Given the description of an element on the screen output the (x, y) to click on. 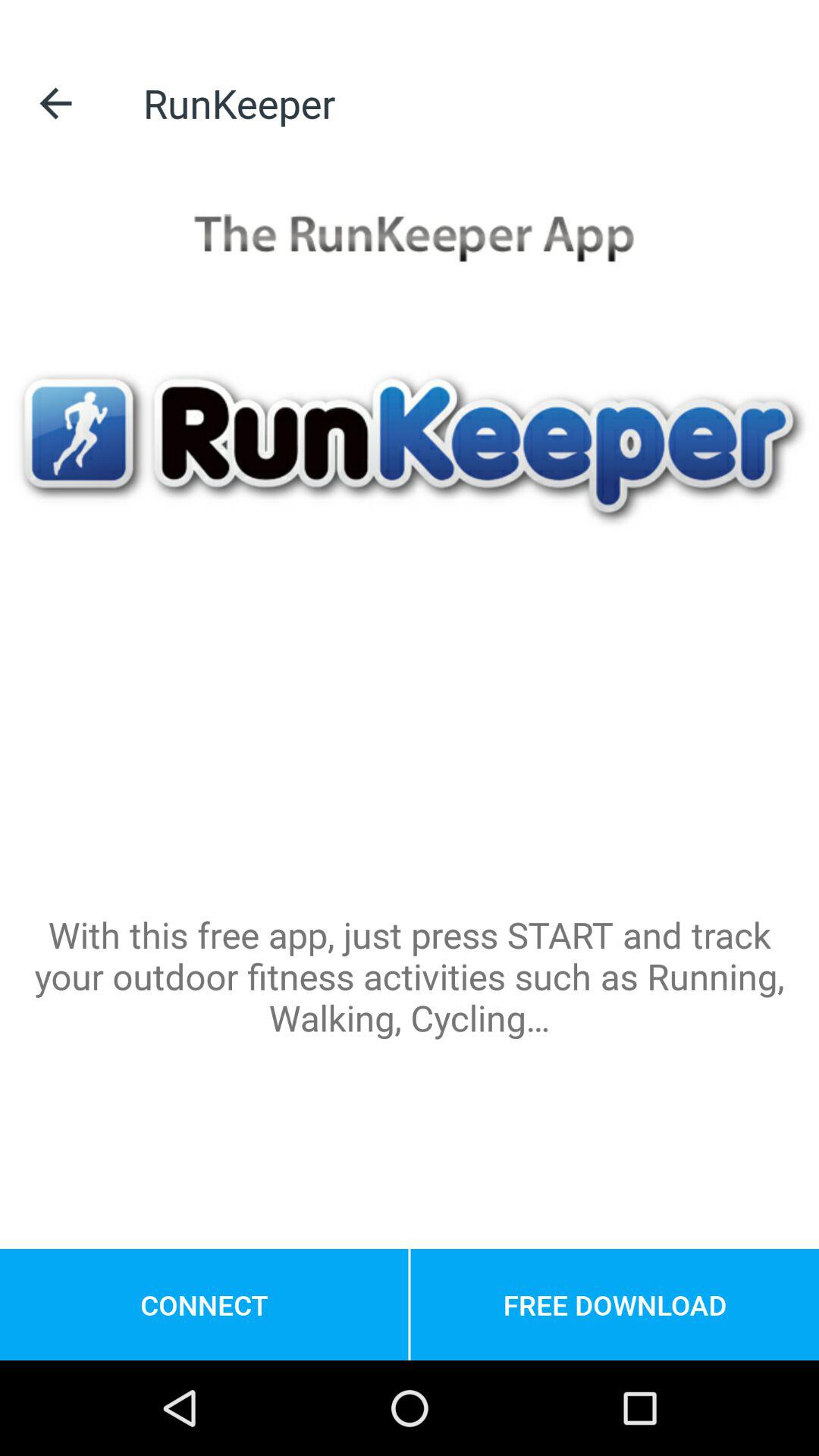
turn on item at the bottom right corner (614, 1304)
